Given the description of an element on the screen output the (x, y) to click on. 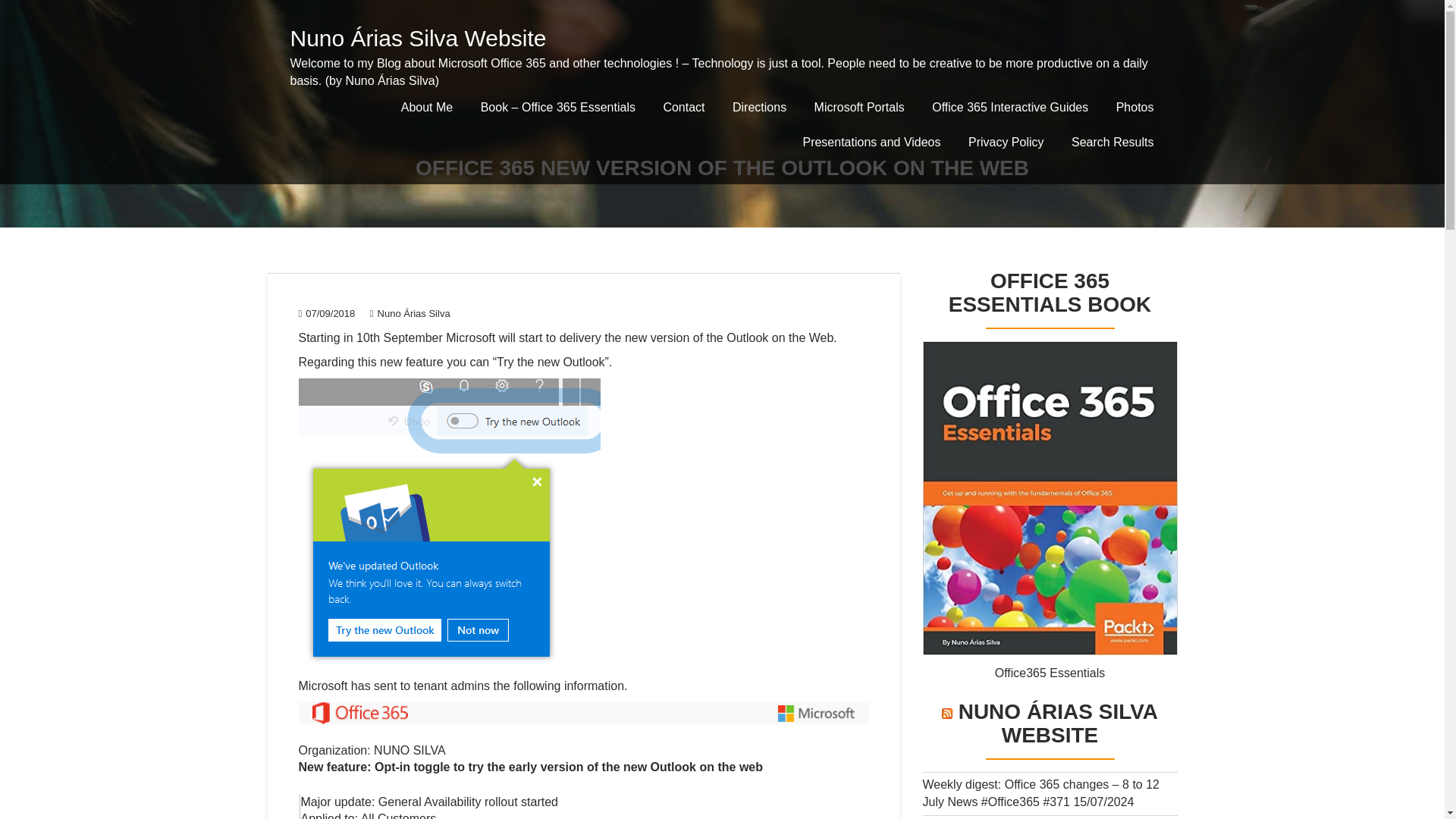
Contact (683, 108)
Microsoft Portals (859, 108)
Privacy Policy (1006, 142)
Photos (1134, 108)
Presentations and Videos (871, 142)
Toggle blog.png (448, 524)
Office 365 Interactive Guides (1010, 108)
Search Results (1112, 142)
Directions (758, 108)
About Me (426, 108)
